Given the description of an element on the screen output the (x, y) to click on. 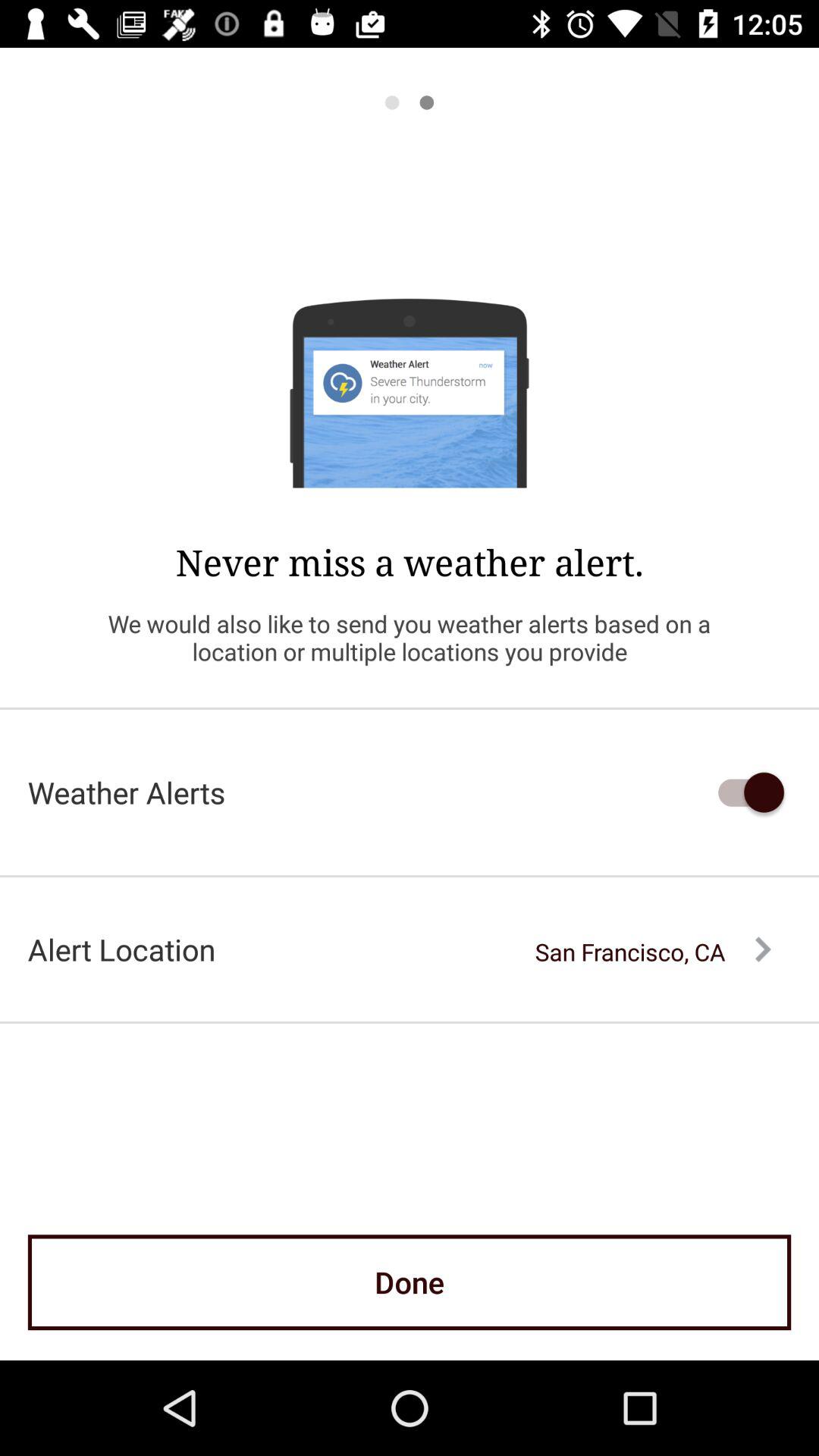
open the san francisco, ca item (653, 951)
